Given the description of an element on the screen output the (x, y) to click on. 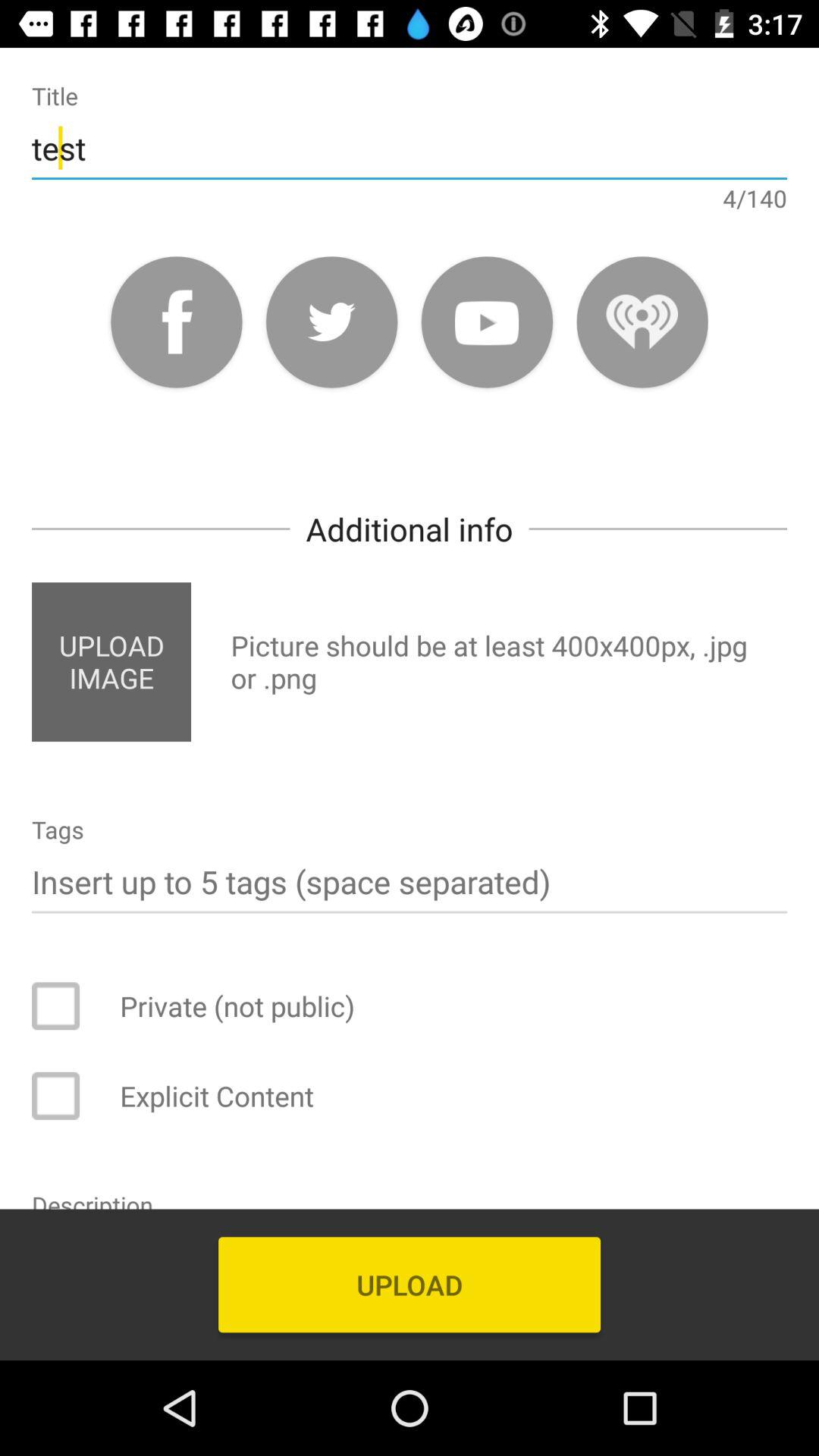
select item (65, 1006)
